Given the description of an element on the screen output the (x, y) to click on. 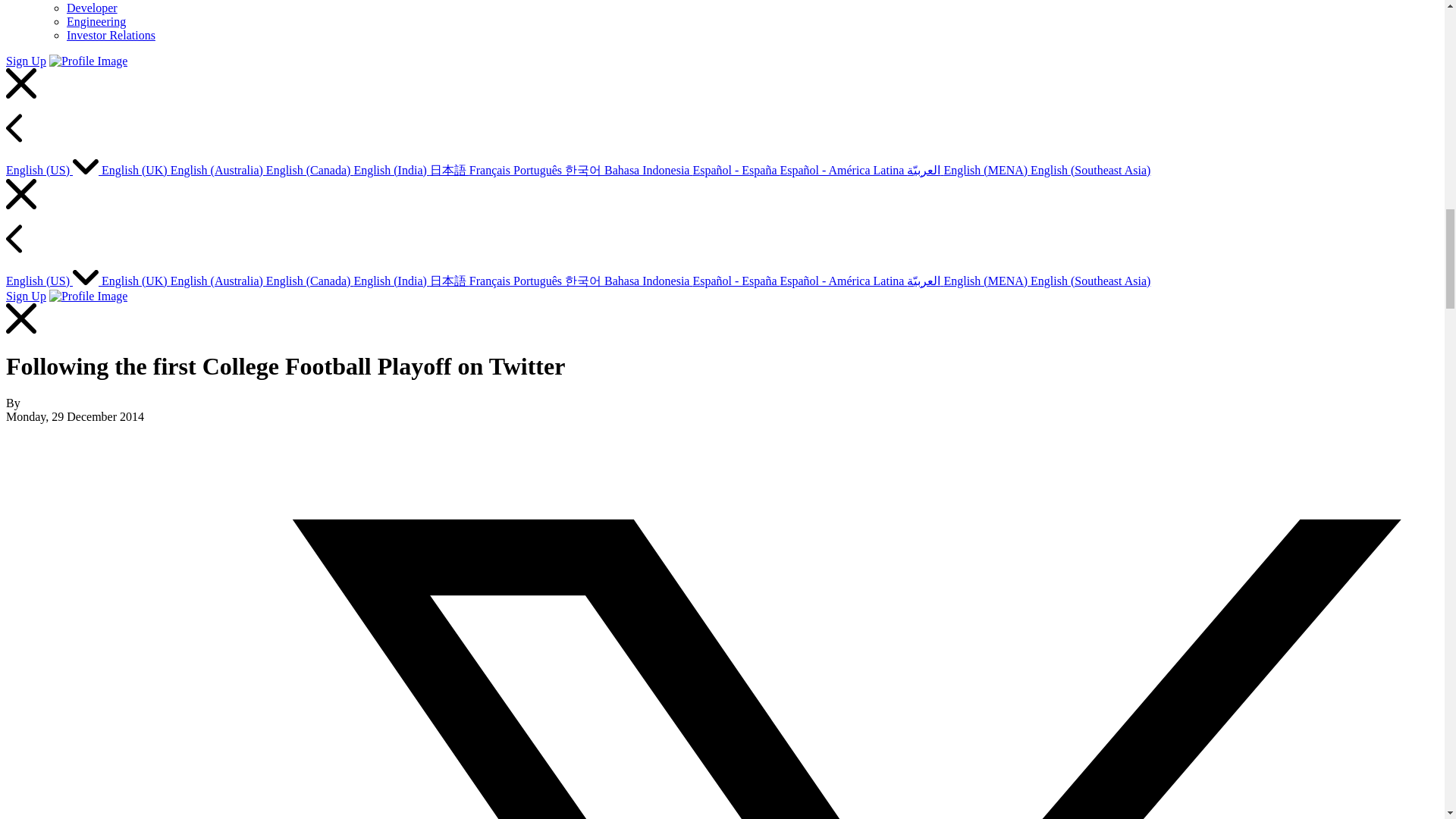
Engineering (95, 21)
Investor Relations (110, 34)
Engineering (95, 21)
Developer (91, 7)
Bahasa Indonesia (648, 169)
Developer (91, 7)
Investor Relations (110, 34)
Sign Up (25, 60)
